Given the description of an element on the screen output the (x, y) to click on. 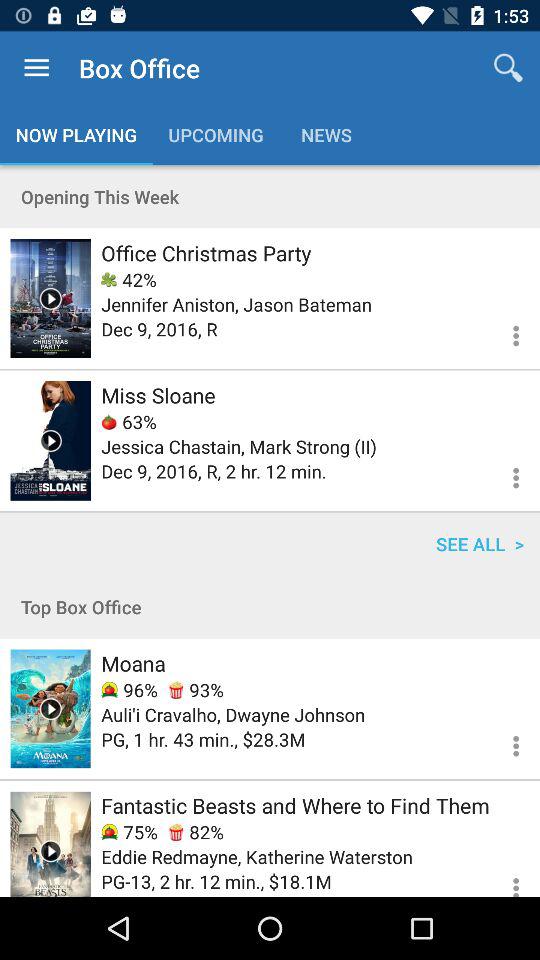
play the movie trailer (50, 298)
